Given the description of an element on the screen output the (x, y) to click on. 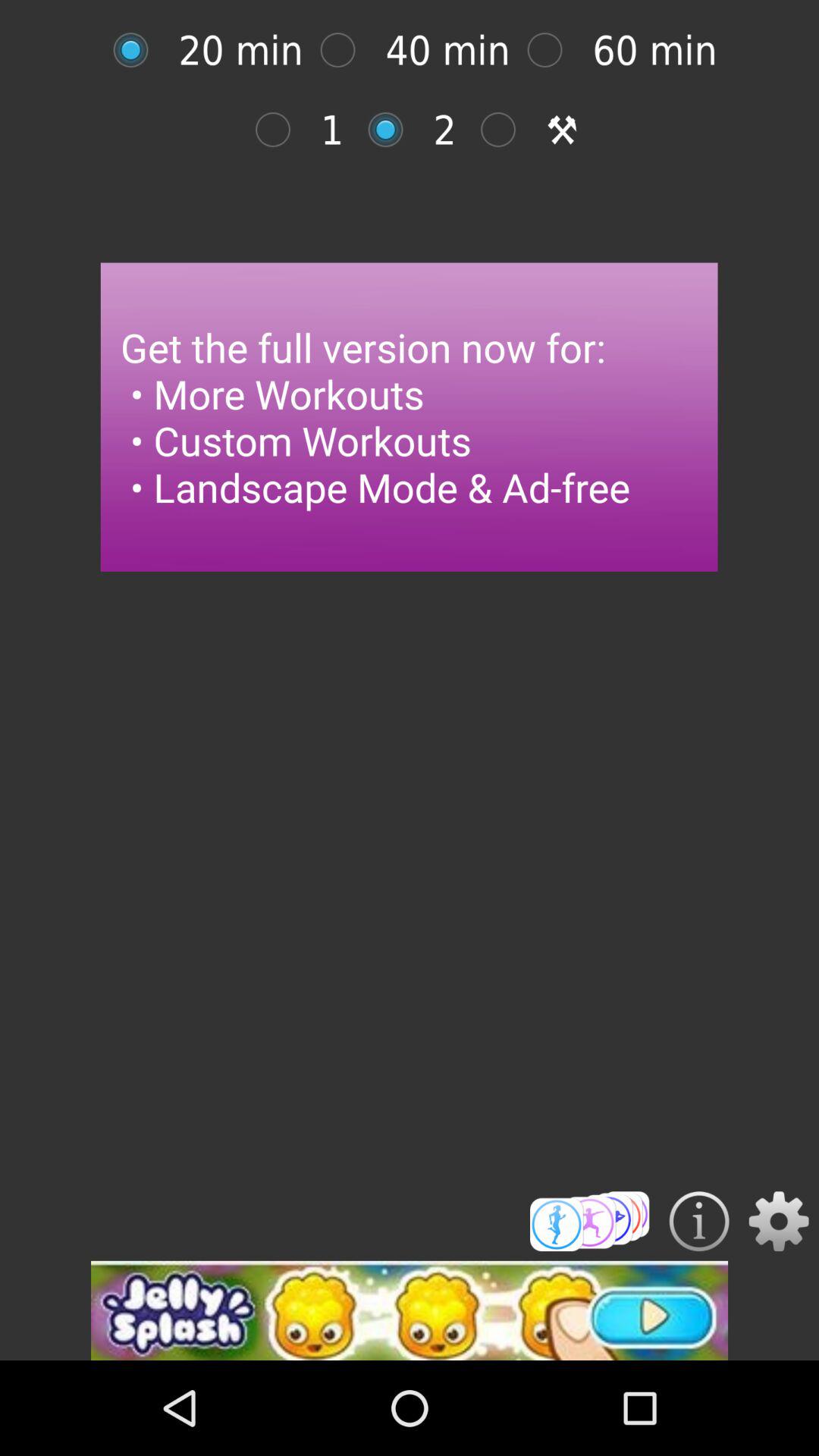
20 min button (138, 49)
